Given the description of an element on the screen output the (x, y) to click on. 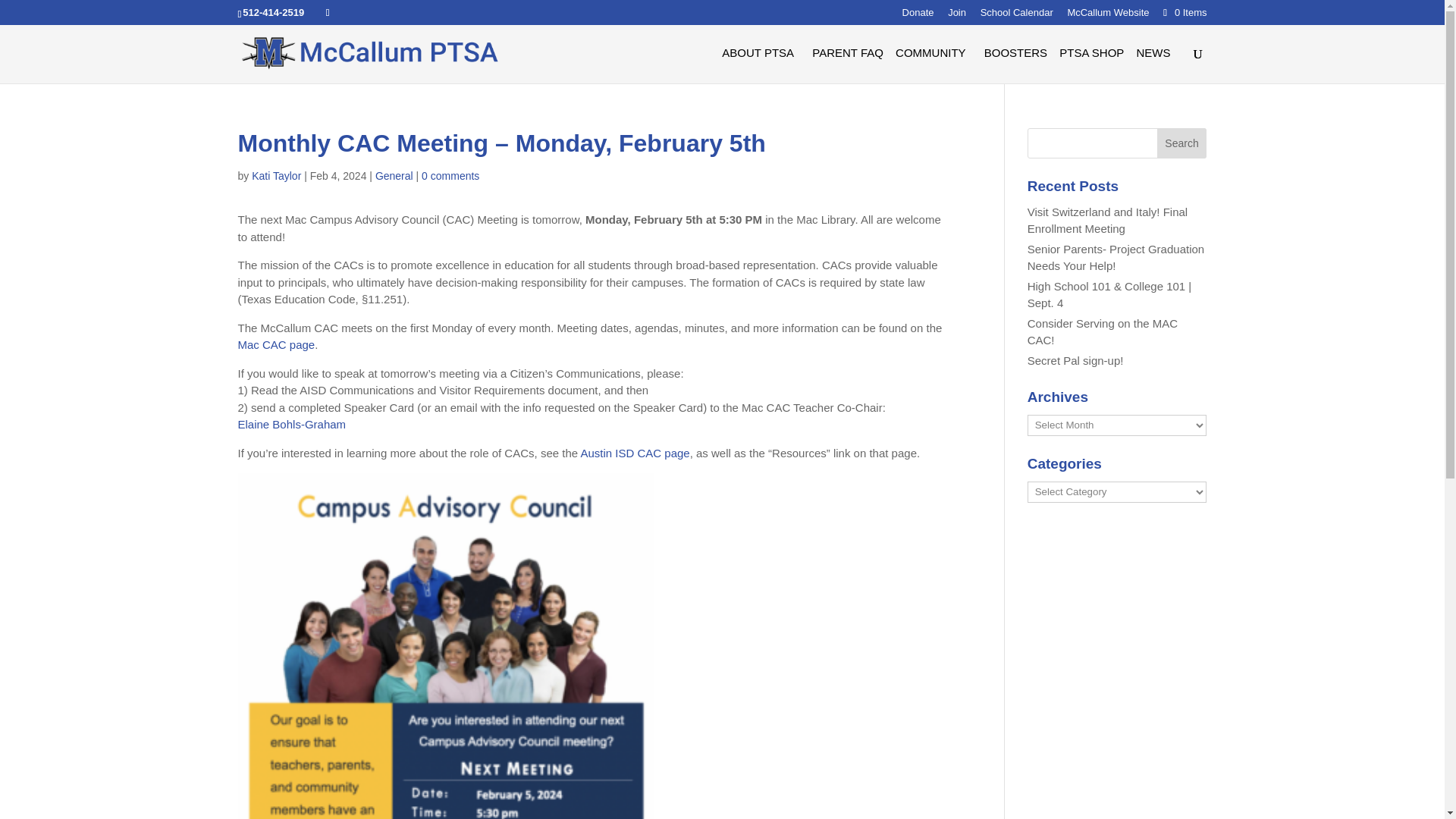
ABOUT PTSA (760, 65)
Search (1182, 142)
General (394, 175)
Austin ISD CAC page (634, 452)
Senior Parents- Project Graduation Needs Your Help! (1115, 257)
Posts by Kati Taylor (276, 175)
NEWS (1155, 65)
Search (1182, 142)
Donate (918, 16)
School Calendar (1015, 16)
